Given the description of an element on the screen output the (x, y) to click on. 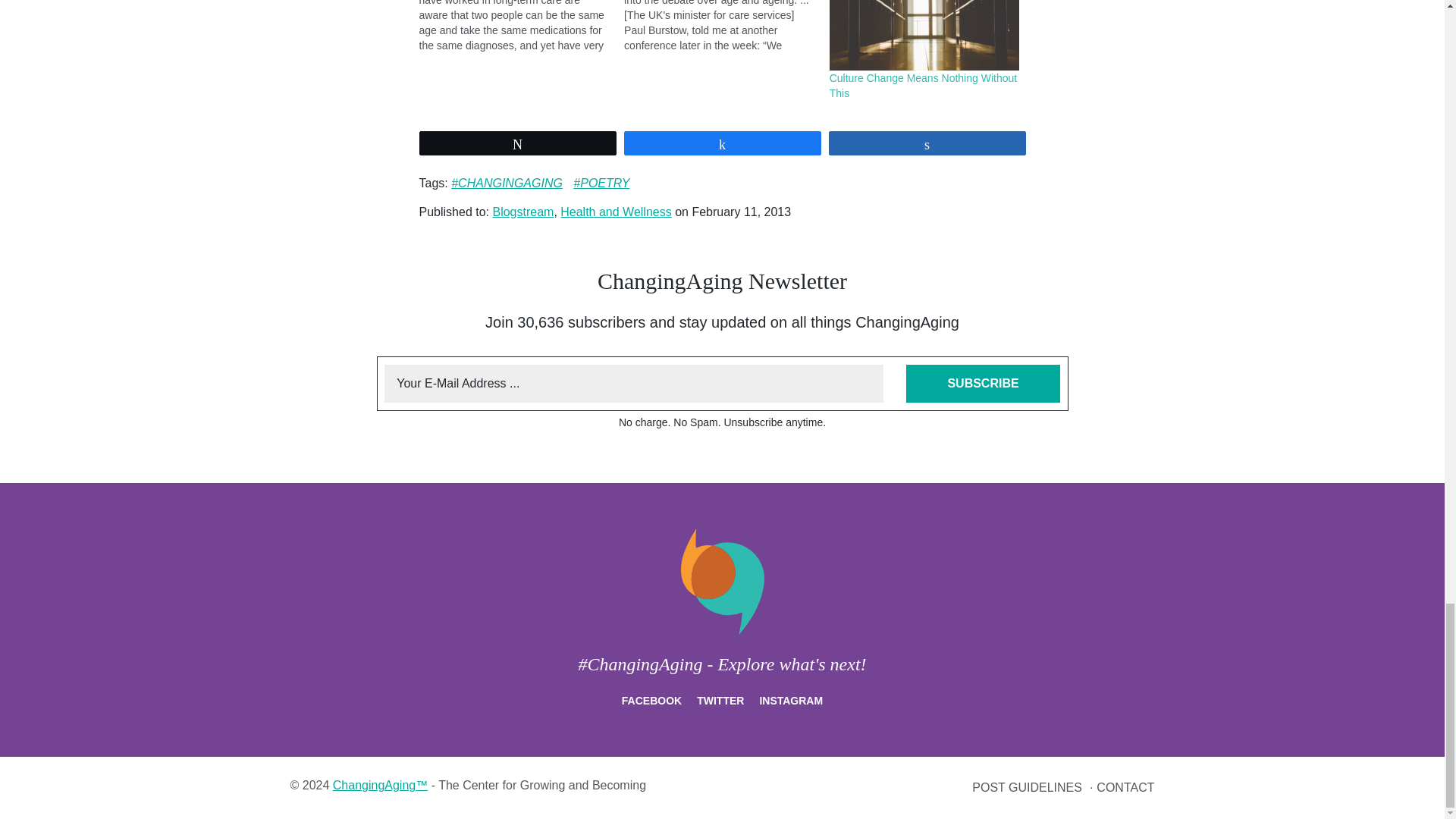
Culture Change Means Nothing Without This (922, 85)
Culture Change Means Nothing Without This (922, 85)
POETRY (600, 183)
Culture Change Means Nothing Without This (924, 35)
CHANGINGAGING (506, 183)
Subscribe (982, 383)
